Given the description of an element on the screen output the (x, y) to click on. 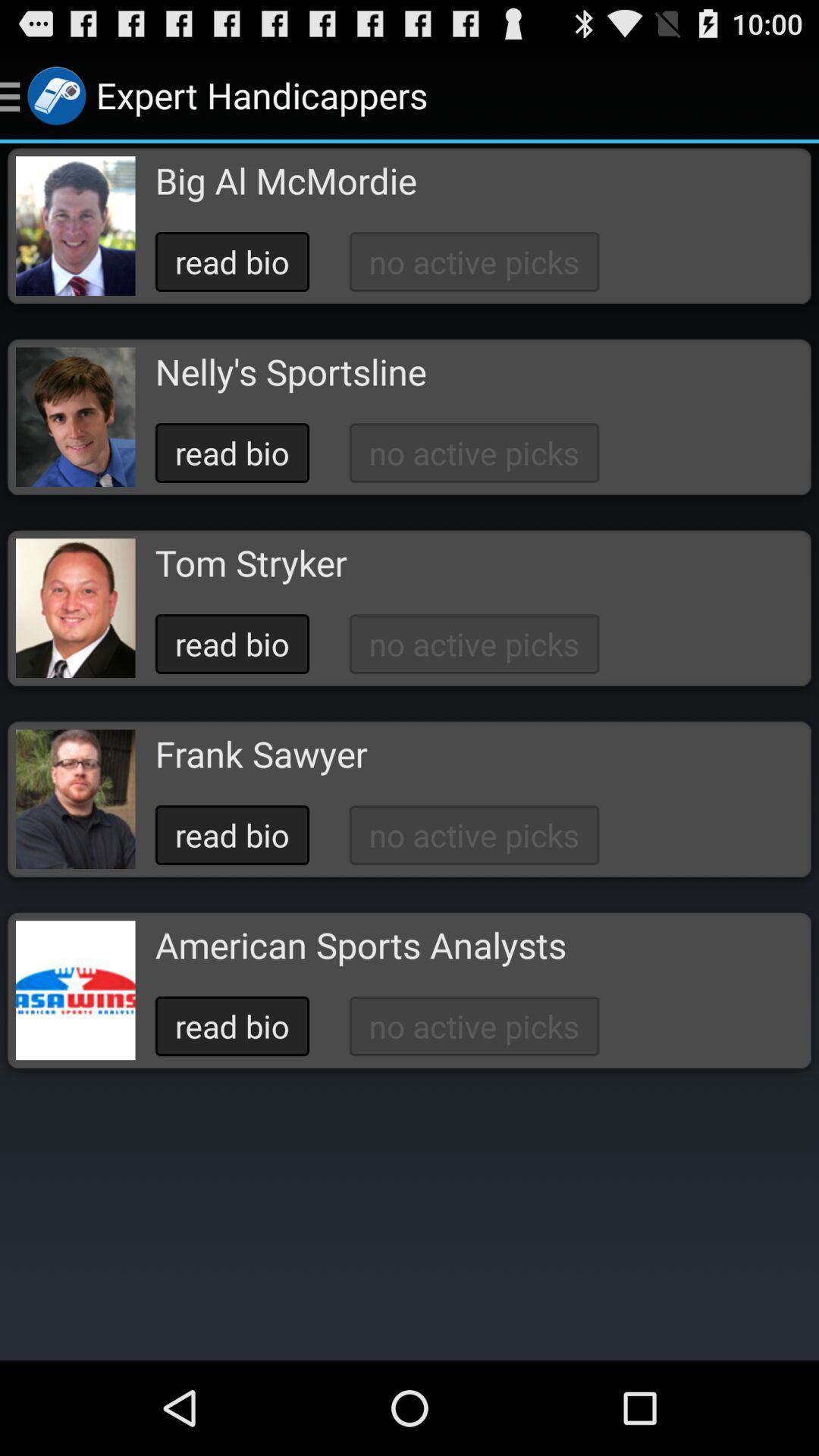
flip until the tom stryker app (250, 562)
